Given the description of an element on the screen output the (x, y) to click on. 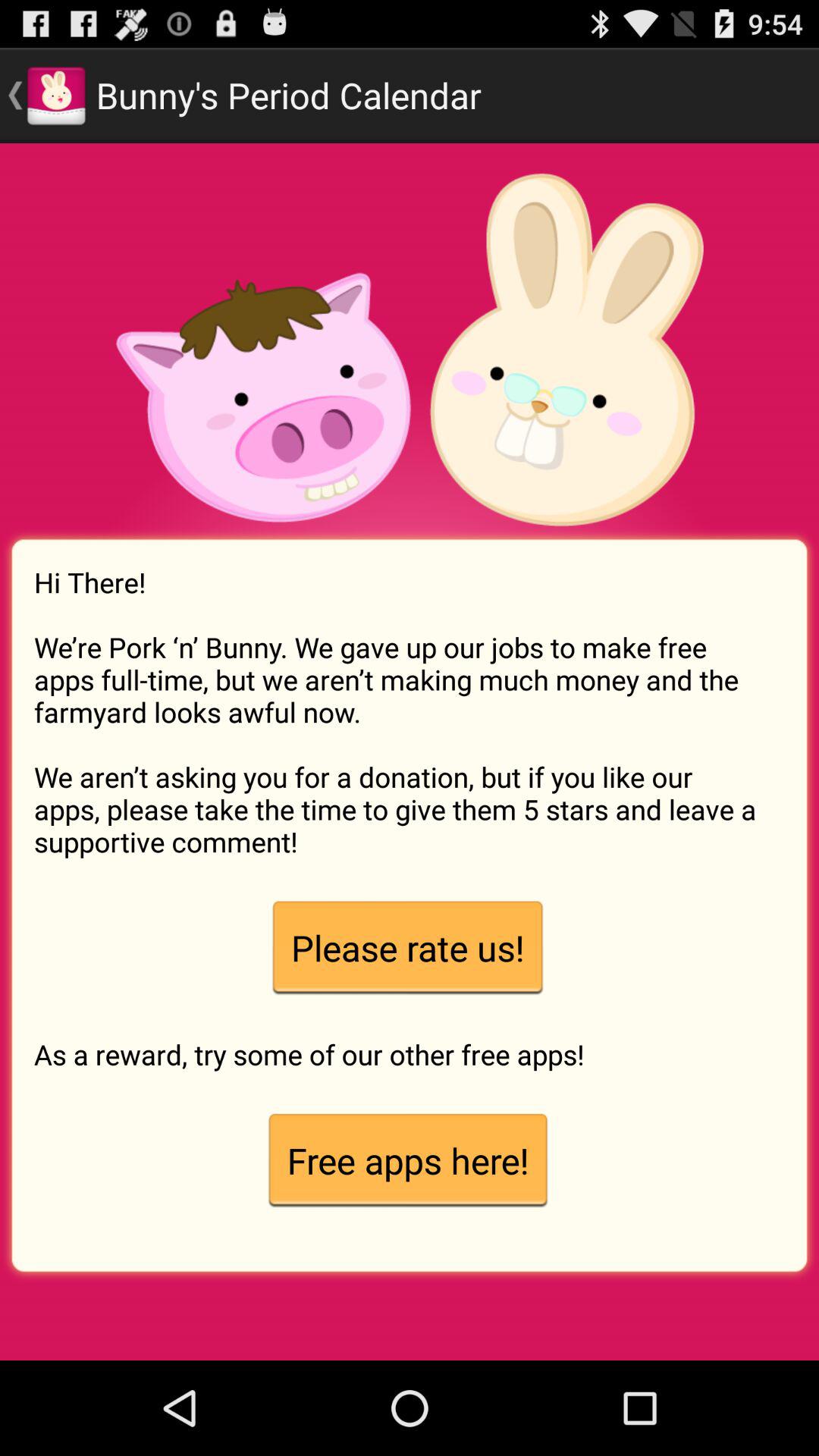
flip until the please rate us! item (407, 947)
